Given the description of an element on the screen output the (x, y) to click on. 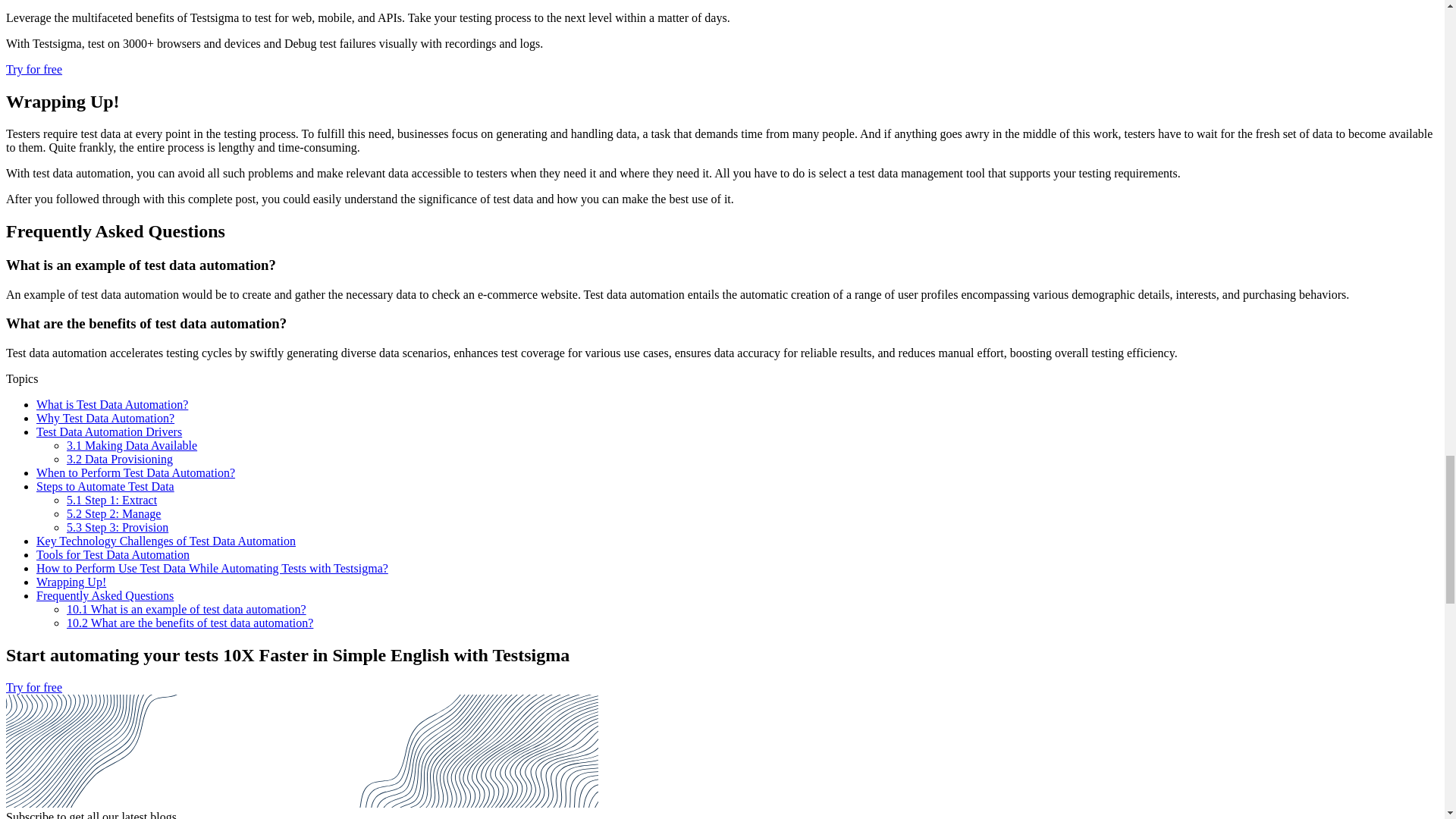
3.1 Making Data Available (131, 445)
Test Data Automation Drivers (109, 431)
Try for free (33, 69)
What is Test Data Automation? (111, 404)
3.2 Data Provisioning (119, 459)
Why Test Data Automation? (105, 418)
Steps to Automate Test Data (105, 486)
When to Perform Test Data Automation? (135, 472)
5.1 Step 1: Extract (111, 499)
5.2 Step 2: Manage (113, 513)
